Given the description of an element on the screen output the (x, y) to click on. 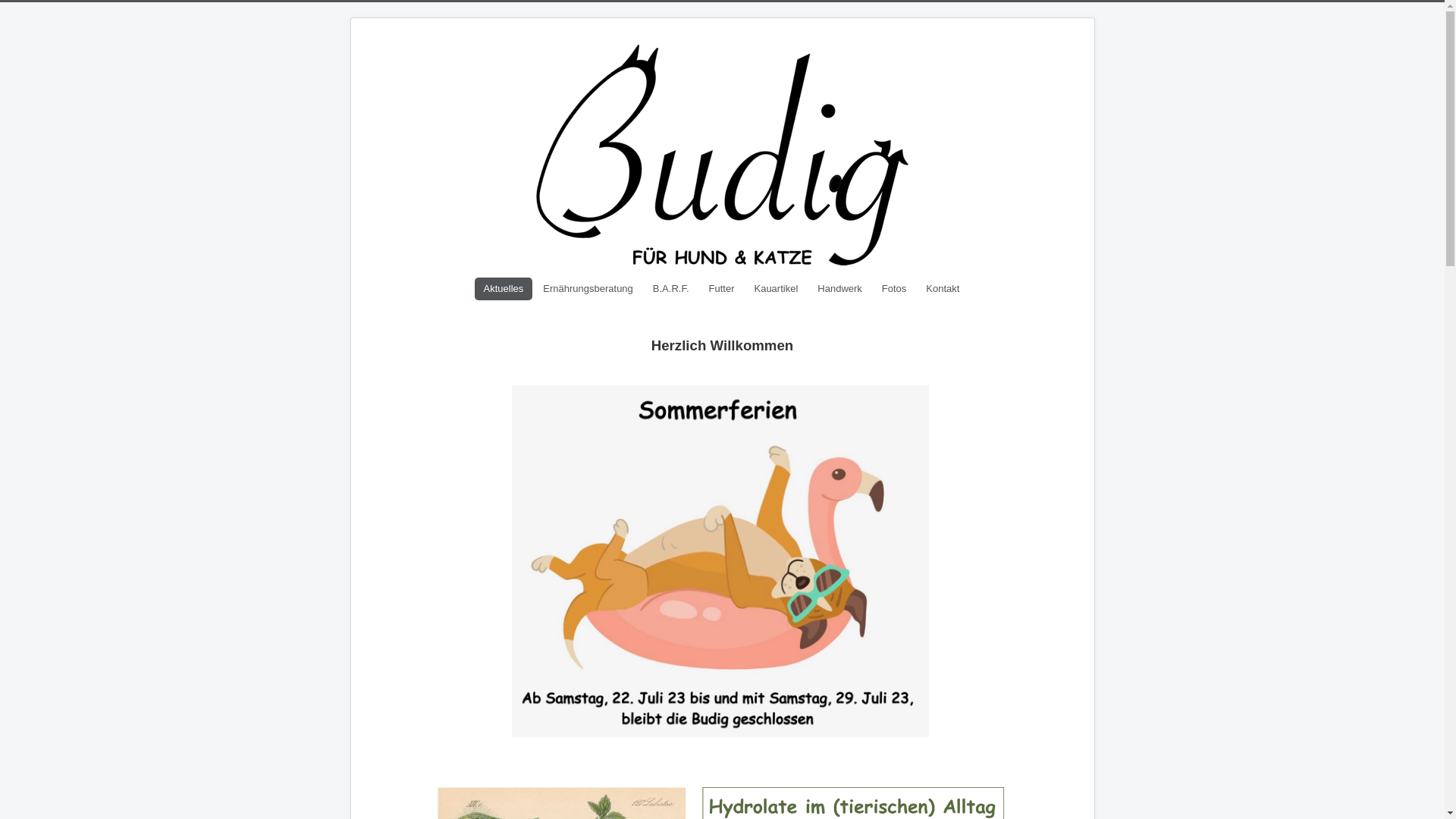
Futter Element type: text (721, 288)
Kontakt Element type: text (942, 288)
Handwerk Element type: text (839, 288)
Kauartikel Element type: text (775, 288)
B.A.R.F. Element type: text (670, 288)
Fotos Element type: text (894, 288)
Aktuelles Element type: text (503, 288)
